Given the description of an element on the screen output the (x, y) to click on. 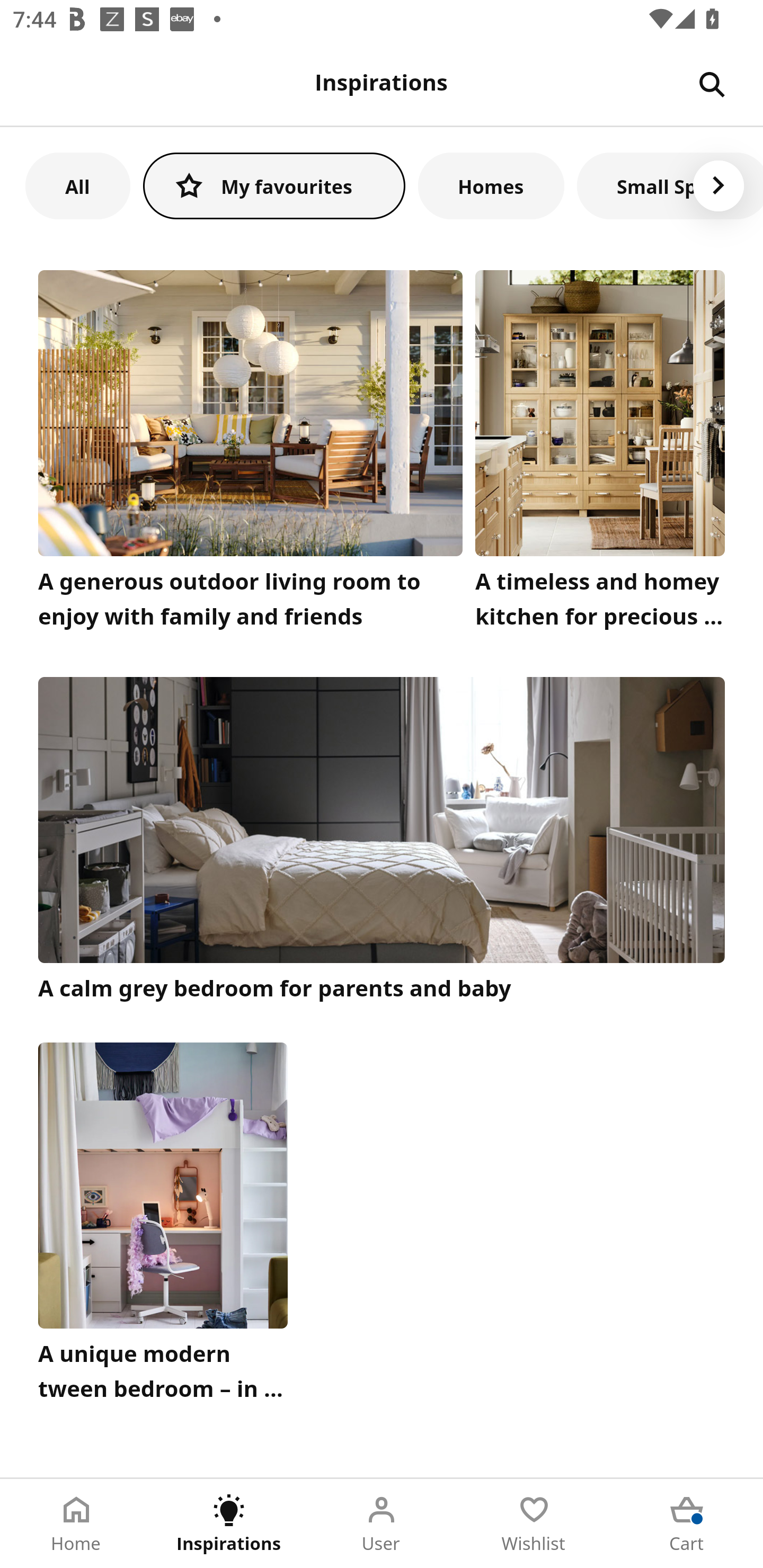
All (77, 185)
My favourites (274, 185)
Homes (491, 185)
A calm grey bedroom for parents and baby (381, 841)
A unique modern tween bedroom – in a nook (162, 1226)
Home
Tab 1 of 5 (76, 1522)
Inspirations
Tab 2 of 5 (228, 1522)
User
Tab 3 of 5 (381, 1522)
Wishlist
Tab 4 of 5 (533, 1522)
Cart
Tab 5 of 5 (686, 1522)
